Given the description of an element on the screen output the (x, y) to click on. 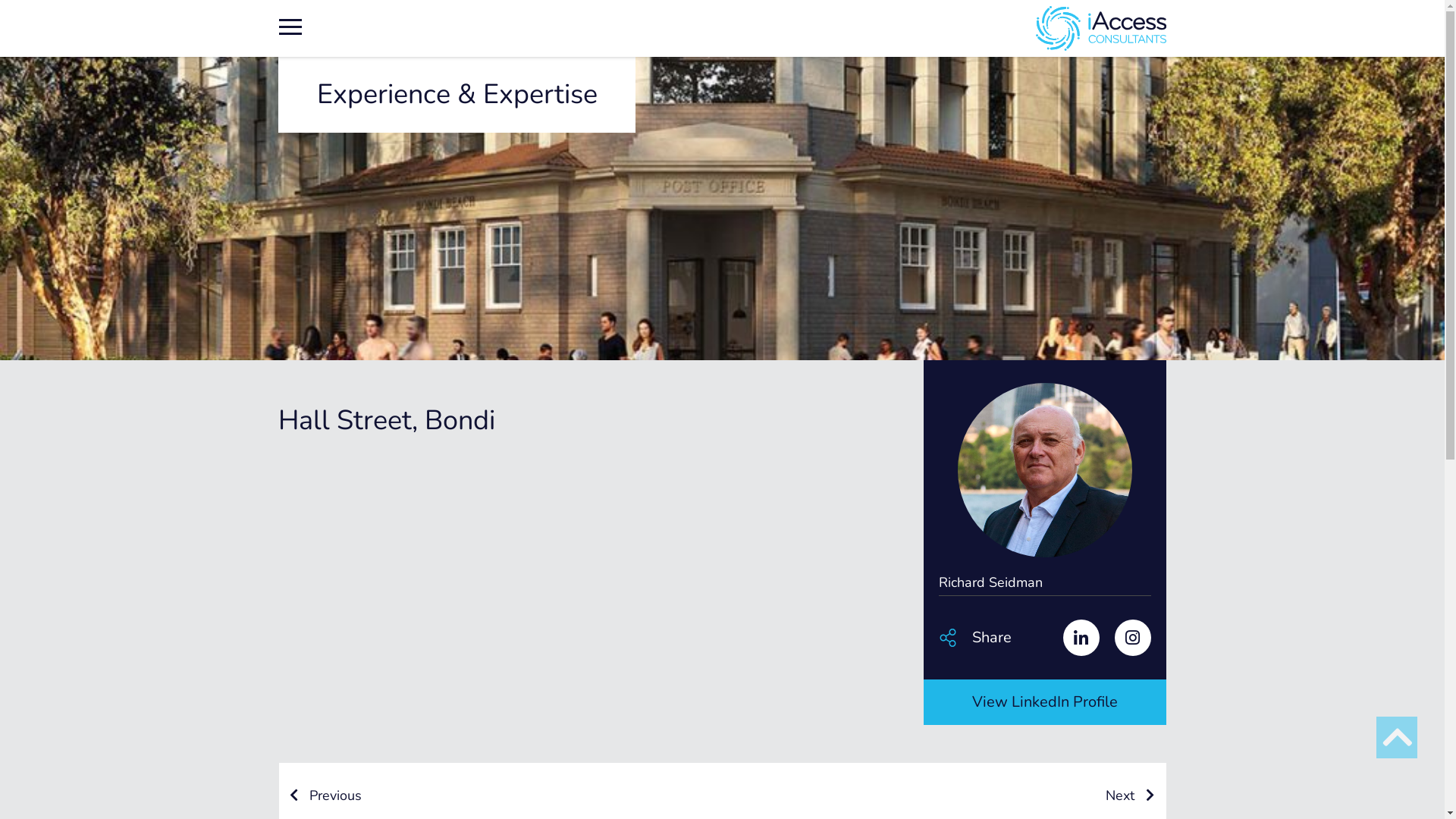
Richard Seidman Instagram Profile Element type: hover (1125, 639)
Richard Seidman LinkedIn Profile Element type: hover (1073, 639)
menu button Element type: hover (290, 24)
Previous Element type: text (325, 795)
Next Element type: text (1129, 795)
iAccess Consultants Element type: hover (873, 28)
View LinkedIn Profile Element type: text (1044, 701)
